Given the description of an element on the screen output the (x, y) to click on. 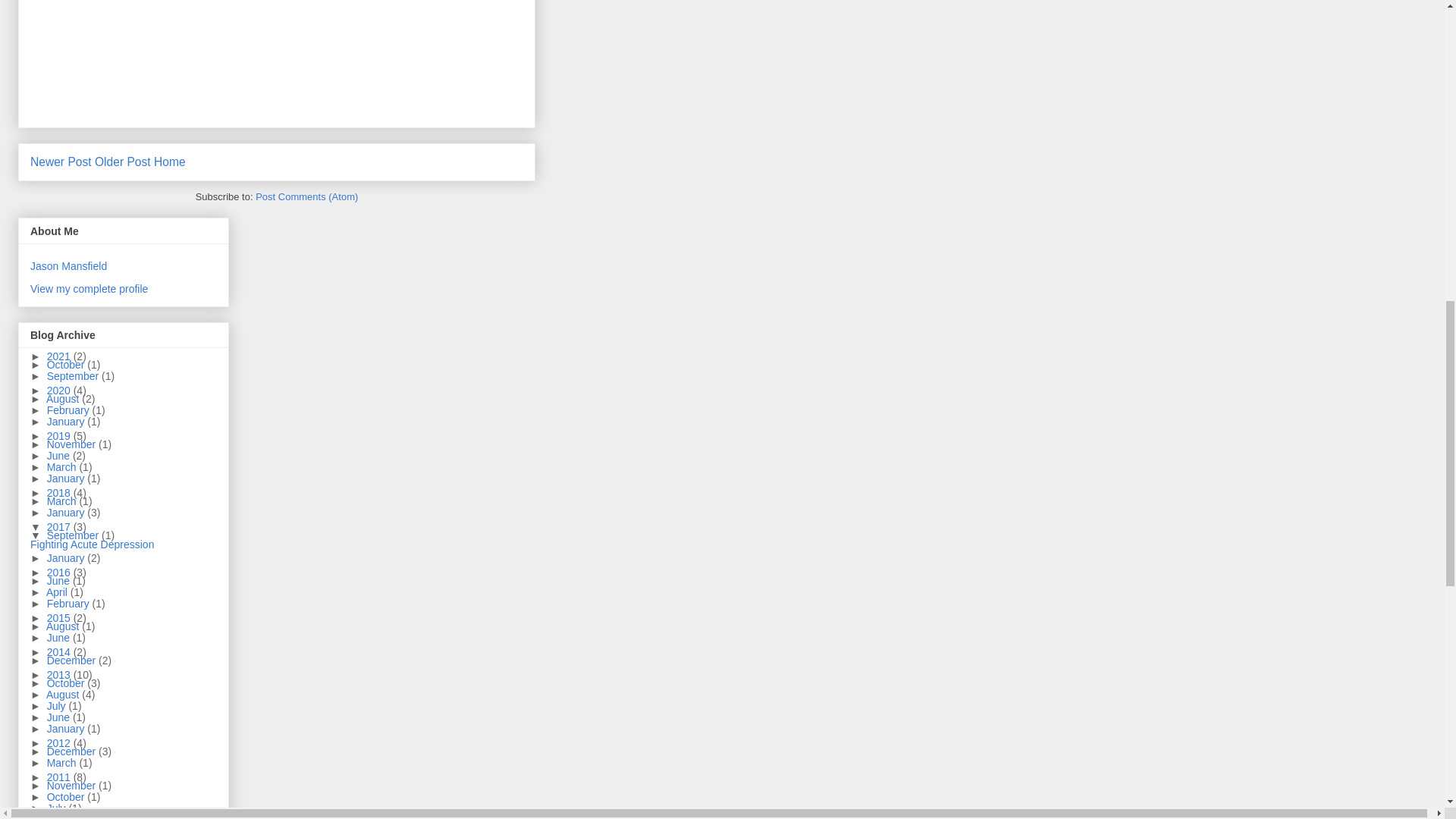
September (73, 376)
Older Post (122, 161)
Home (170, 161)
2020 (60, 390)
October (66, 364)
Older Post (122, 161)
January (66, 421)
August (63, 398)
Newer Post (60, 161)
February (69, 410)
November (72, 444)
2021 (60, 356)
View my complete profile (89, 288)
Newer Post (60, 161)
June (59, 455)
